Given the description of an element on the screen output the (x, y) to click on. 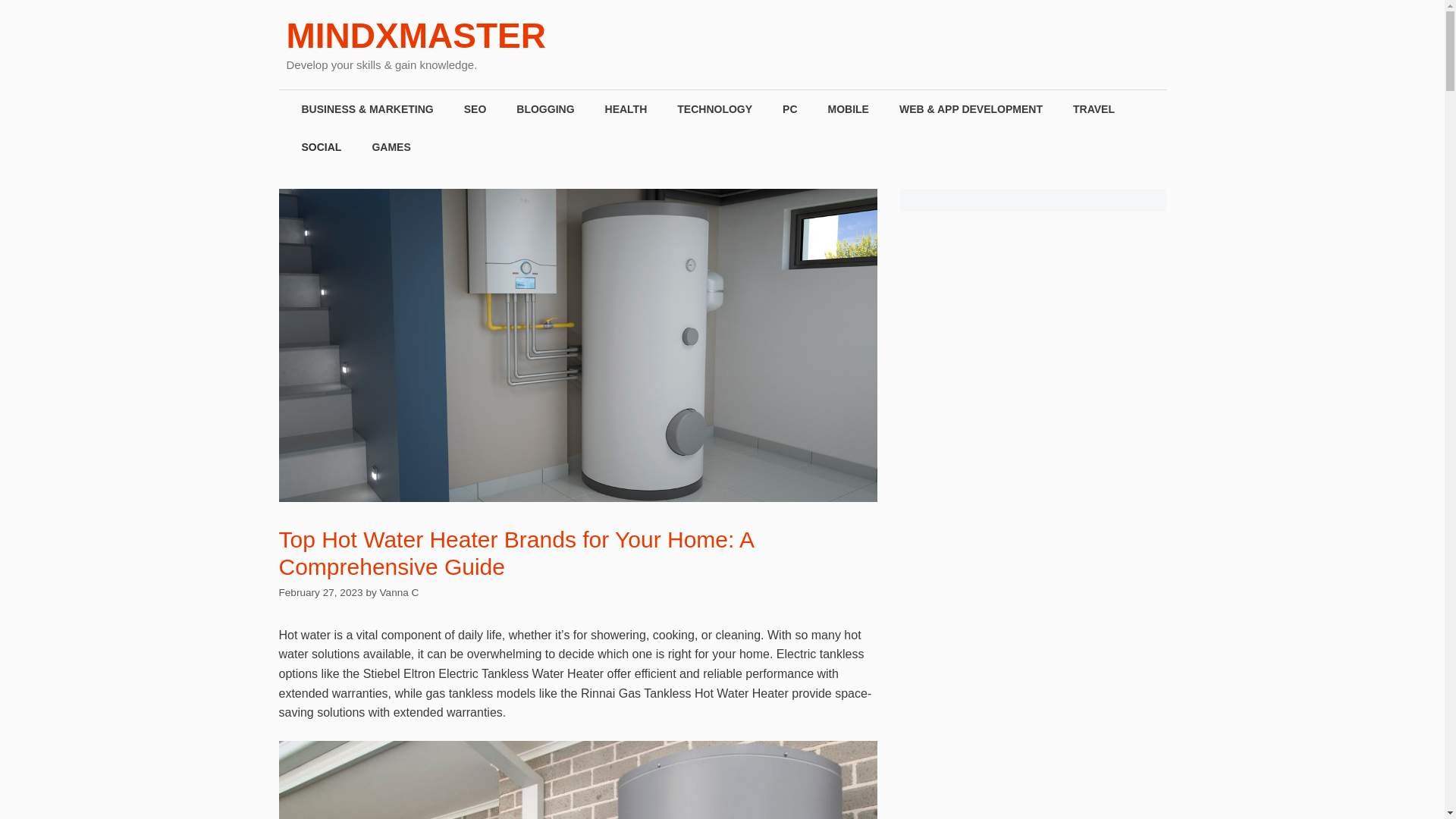
MOBILE (847, 108)
View all posts by Vanna C (399, 592)
TRAVEL (1093, 108)
GAMES (390, 146)
Vanna C (399, 592)
SEO (475, 108)
TECHNOLOGY (714, 108)
SOCIAL (321, 146)
MINDXMASTER (416, 35)
HEALTH (625, 108)
PC (789, 108)
BLOGGING (544, 108)
